Given the description of an element on the screen output the (x, y) to click on. 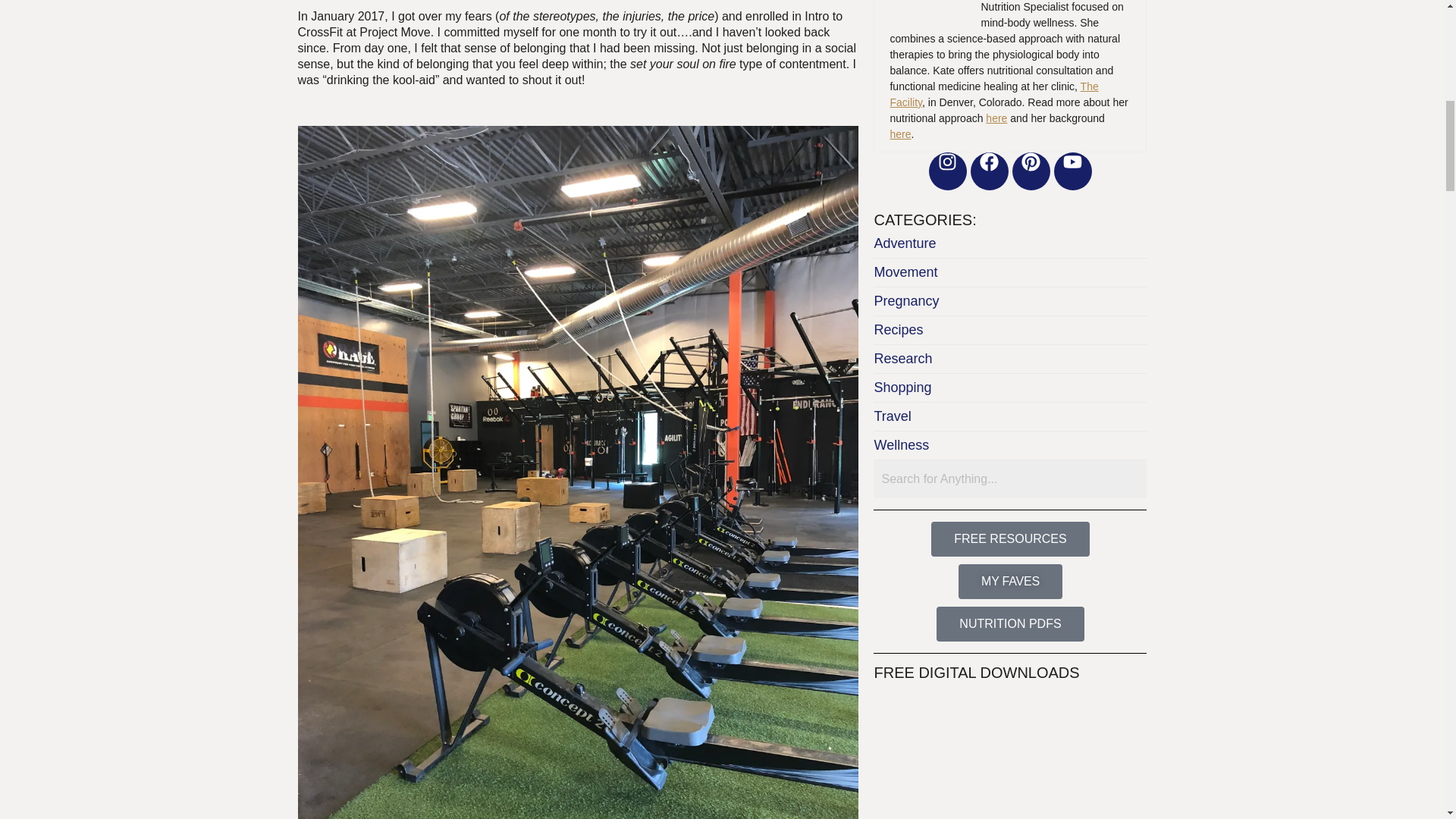
Research (1010, 358)
Search (1010, 478)
Travel (1010, 416)
Movement (1010, 272)
Pregnancy (1010, 301)
Shopping (1010, 387)
The Facility (993, 94)
Wellness (1010, 445)
here (900, 133)
Adventure (1010, 244)
